Given the description of an element on the screen output the (x, y) to click on. 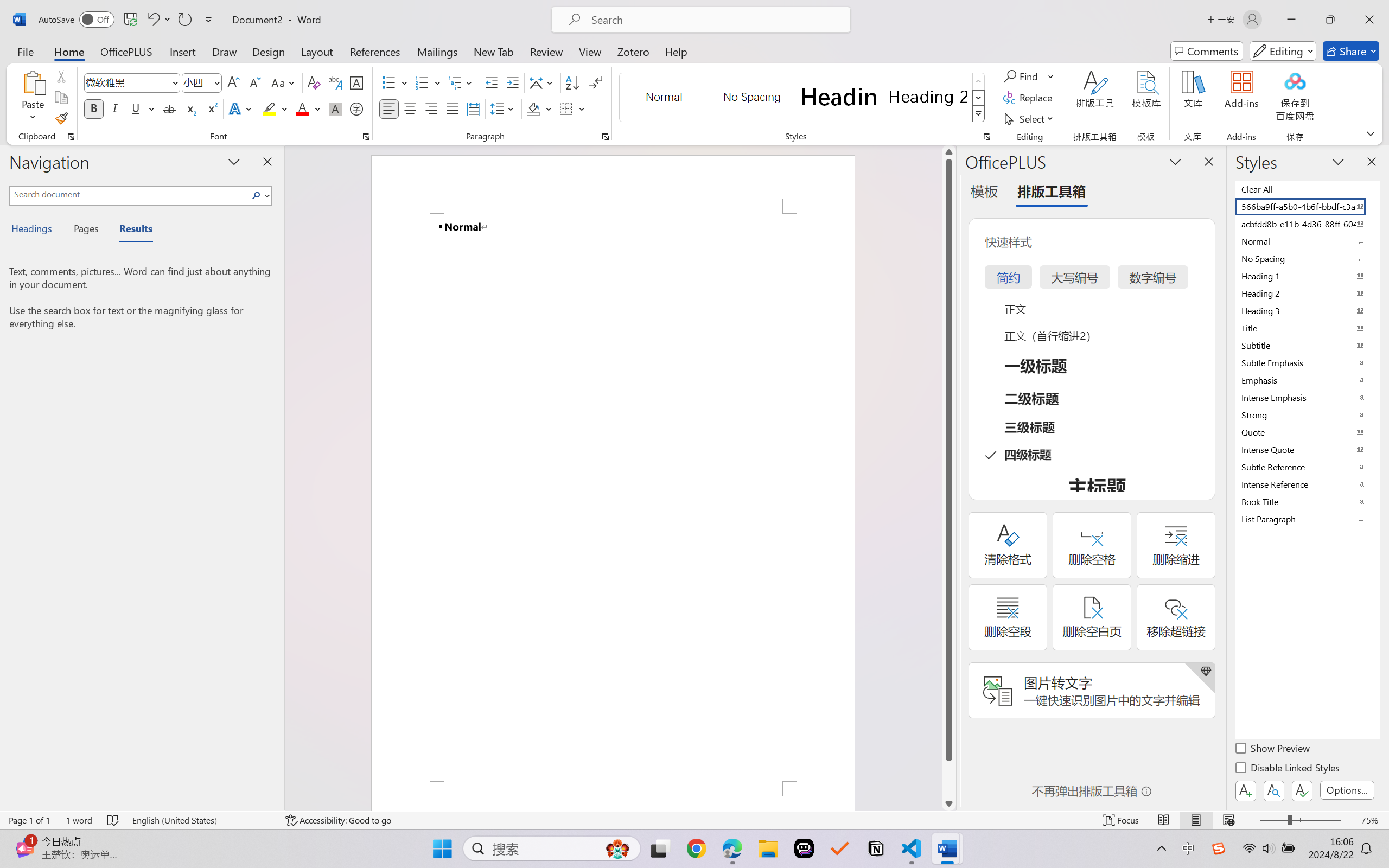
Layout (316, 51)
Headings (35, 229)
Web Layout (1228, 819)
Format Painter (60, 118)
Font Size (201, 82)
Numbering (421, 82)
Print Layout (1196, 819)
Class: NetUIScrollBar (948, 477)
Share (1350, 51)
Text Highlight Color Yellow (269, 108)
Spelling and Grammar Check No Errors (113, 819)
Phonetic Guide... (334, 82)
More Options (1051, 75)
Copy (60, 97)
